Given the description of an element on the screen output the (x, y) to click on. 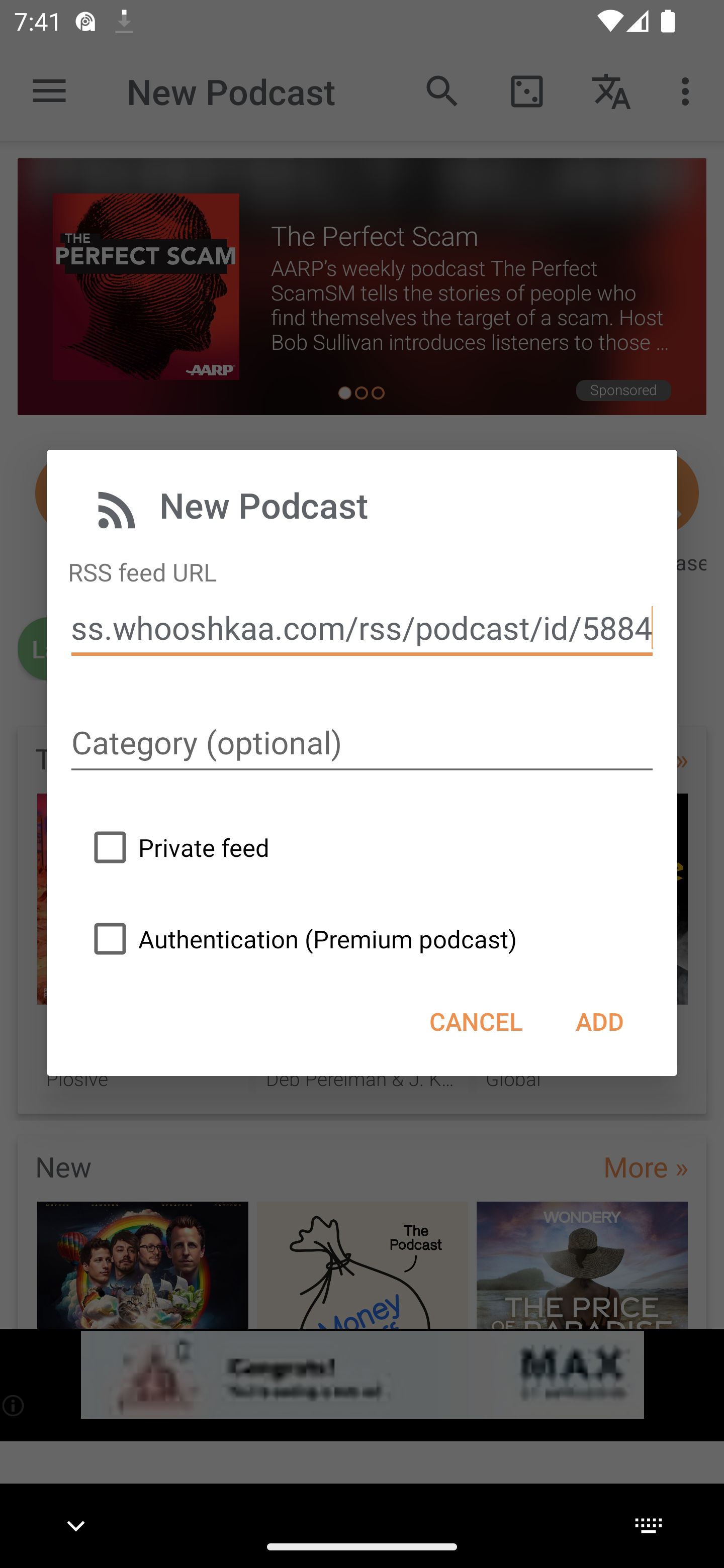
https://rss.whooshkaa.com/rss/podcast/id/5884 (361, 627)
Category (optional) (361, 744)
Private feed (175, 846)
Authentication (Premium podcast) (299, 939)
CANCEL (475, 1021)
ADD (599, 1021)
